Given the description of an element on the screen output the (x, y) to click on. 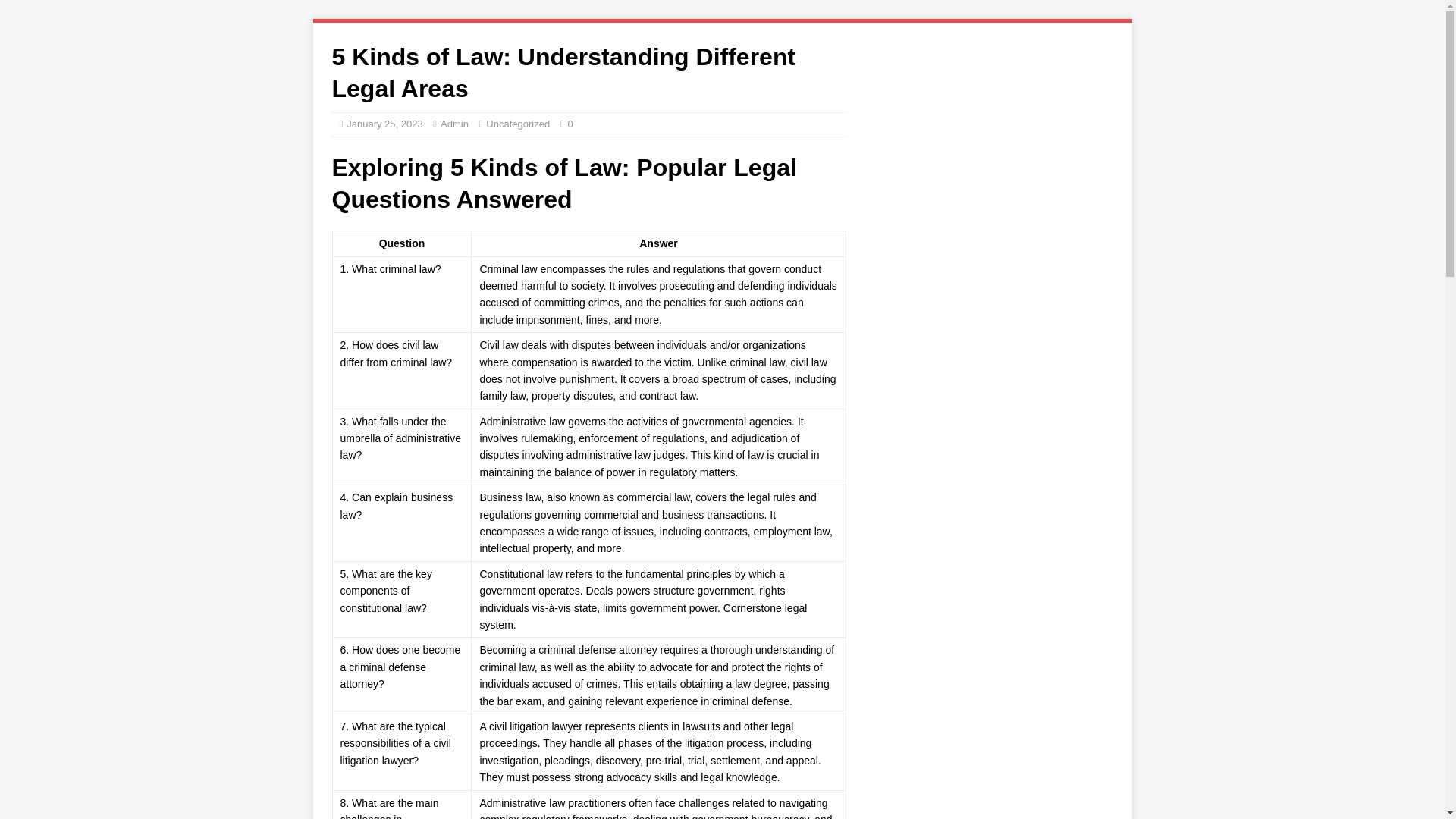
Admin (454, 123)
January 25, 2023 (384, 123)
